Given the description of an element on the screen output the (x, y) to click on. 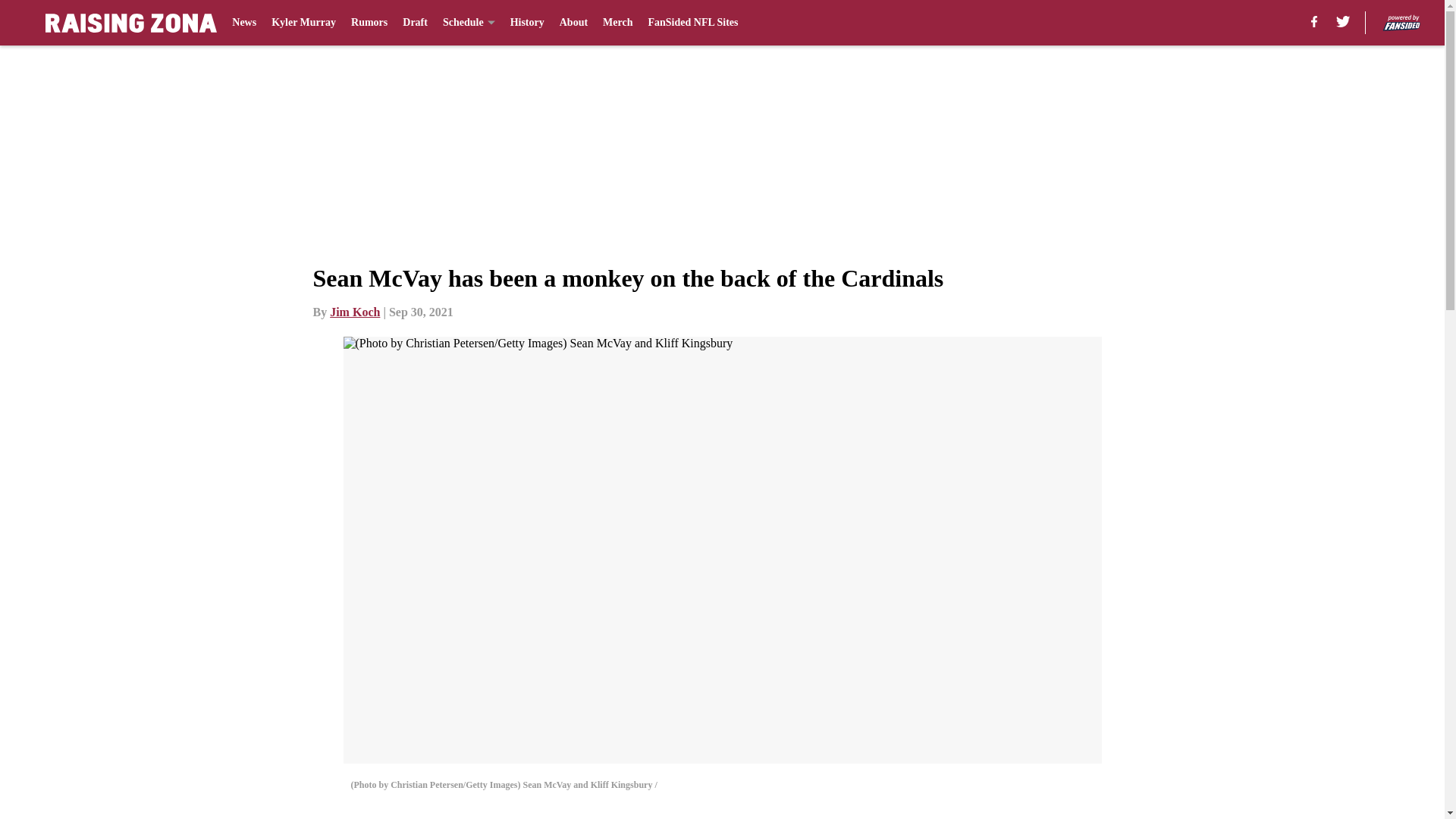
Merch (616, 22)
FanSided NFL Sites (692, 22)
Kyler Murray (303, 22)
News (243, 22)
About (573, 22)
Rumors (368, 22)
History (527, 22)
Jim Koch (355, 311)
Draft (415, 22)
